Given the description of an element on the screen output the (x, y) to click on. 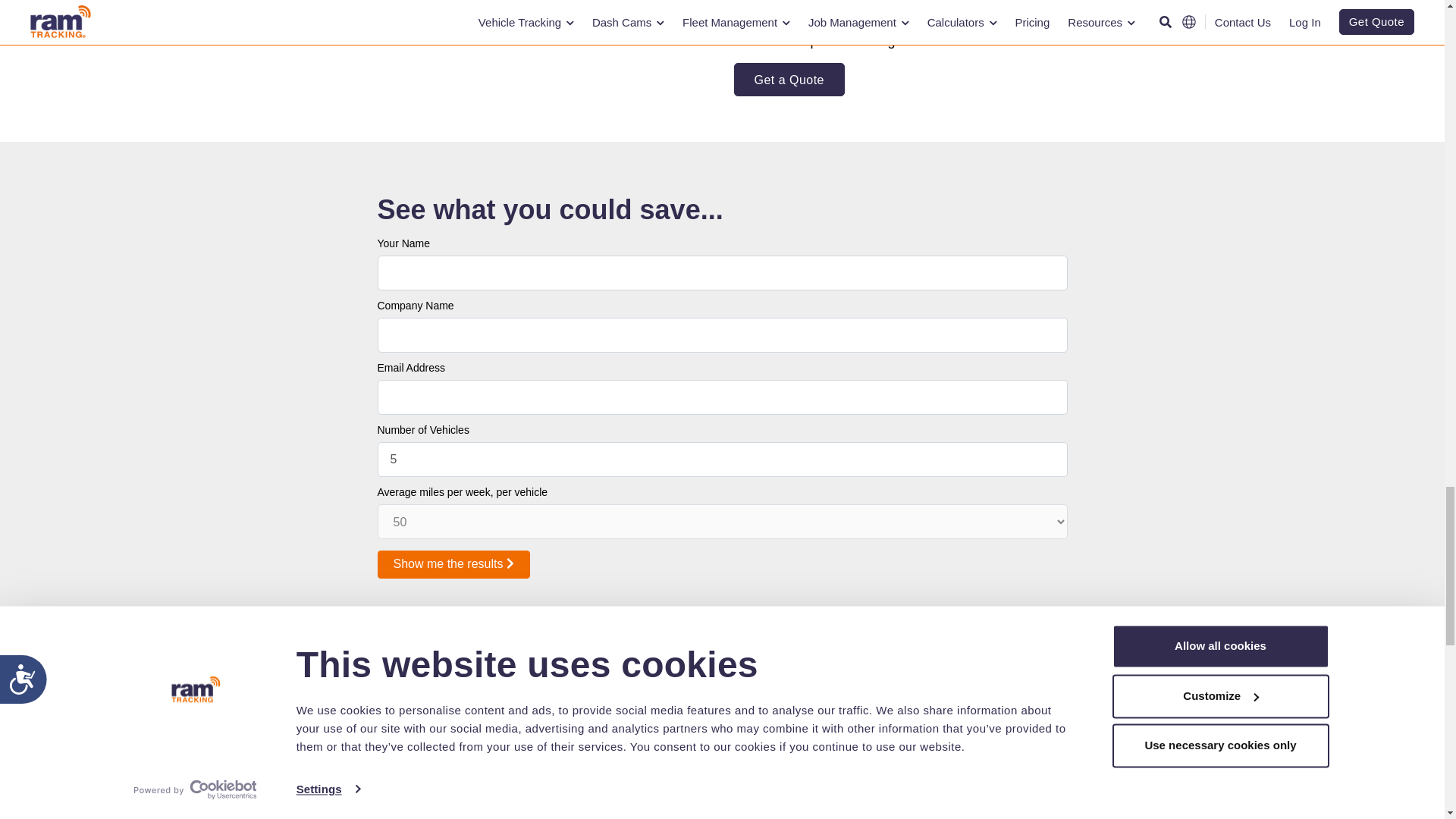
5 (722, 459)
